Given the description of an element on the screen output the (x, y) to click on. 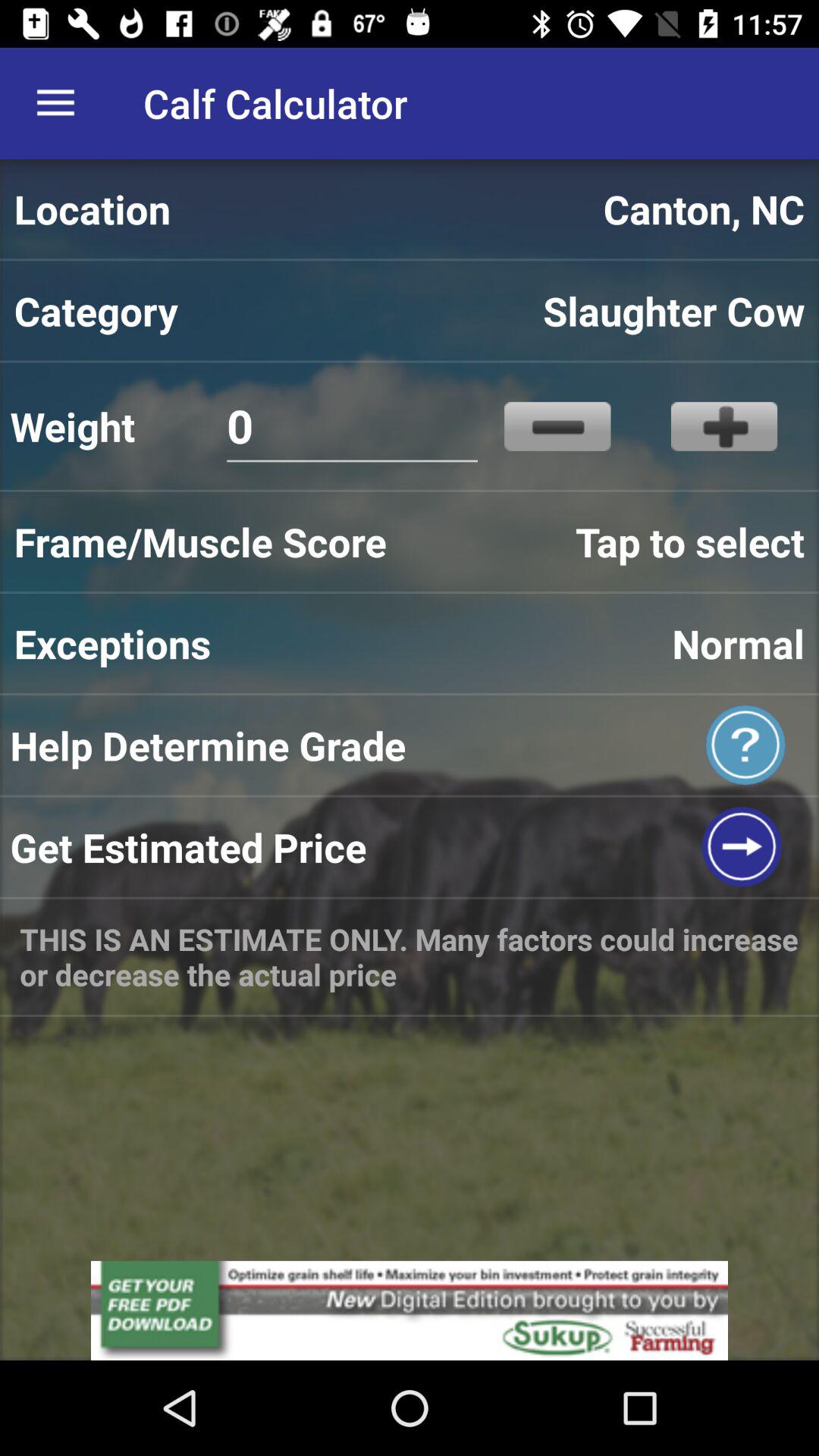
increases value (724, 425)
